Given the description of an element on the screen output the (x, y) to click on. 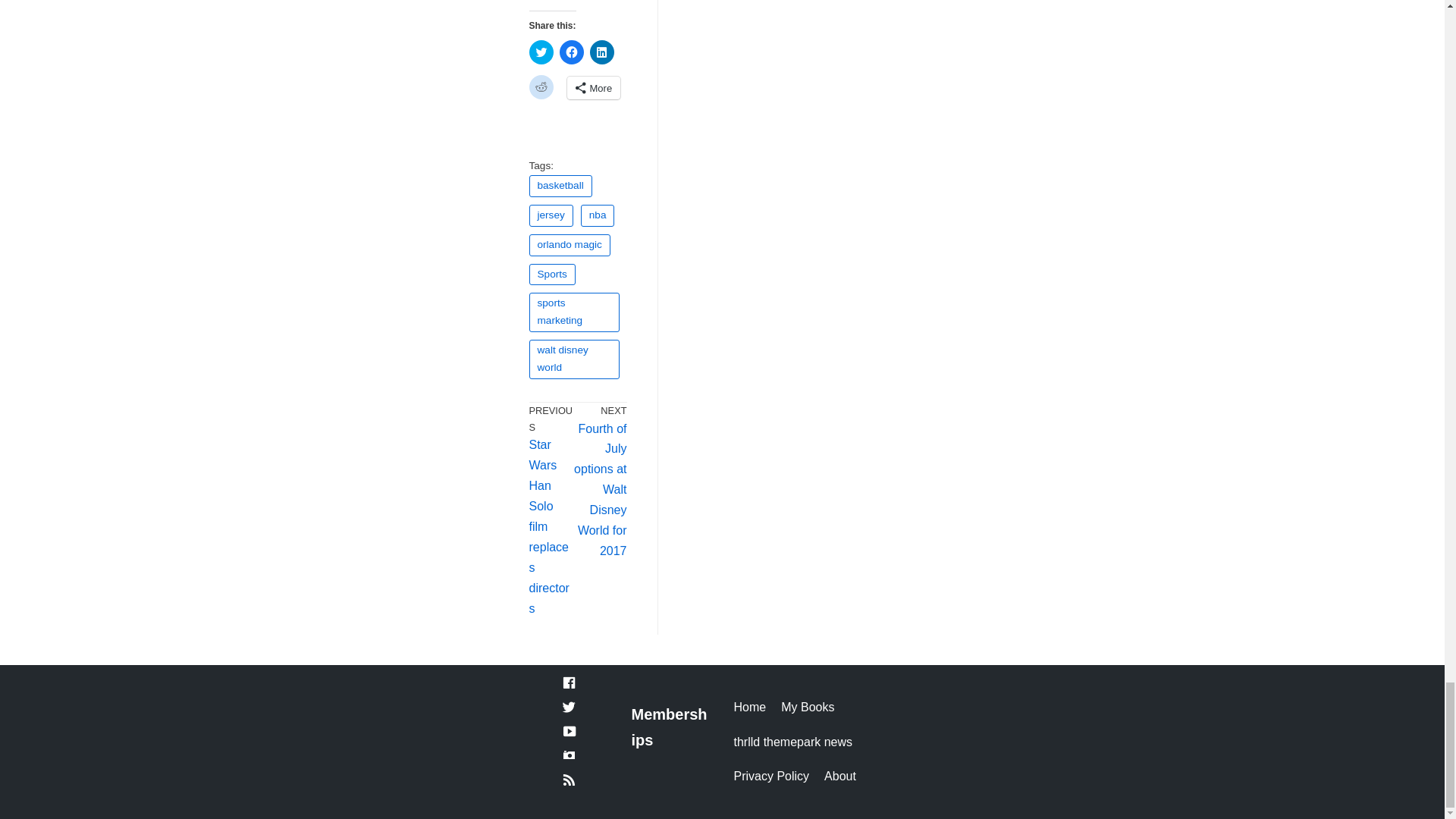
sports marketing (574, 312)
basketball (560, 186)
Sports (552, 274)
Click to share on Reddit (541, 87)
orlando magic (569, 245)
Click to share on Twitter (541, 52)
Click to share on LinkedIn (601, 52)
nba (597, 215)
walt disney world (574, 359)
Click to share on Facebook (571, 52)
